Given the description of an element on the screen output the (x, y) to click on. 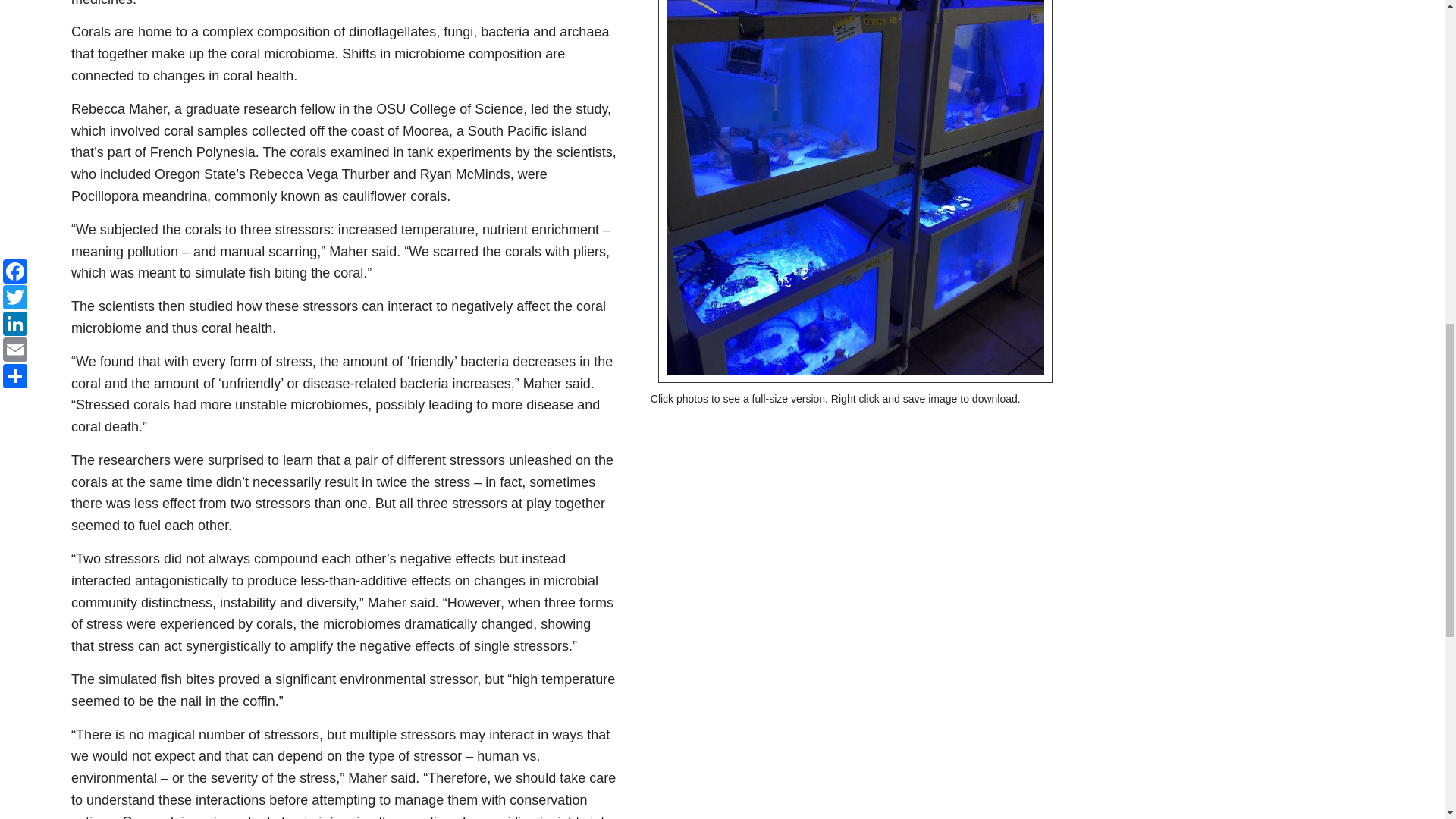
Tank experiments (854, 184)
